Given the description of an element on the screen output the (x, y) to click on. 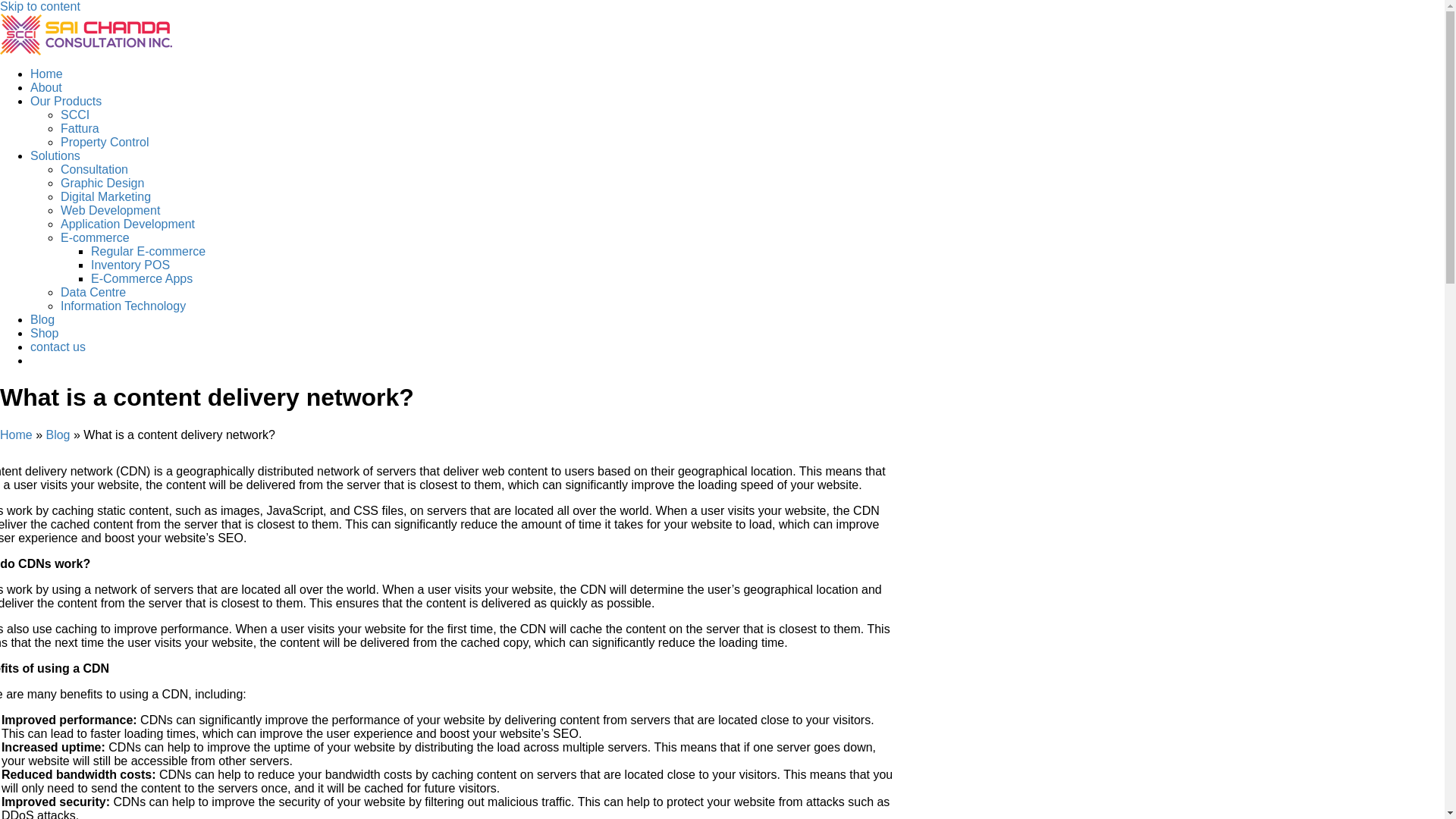
Blog (57, 434)
Graphic Design (102, 182)
Fattura (80, 128)
Shop (44, 332)
Home (46, 73)
Information Technology (123, 305)
Skip to content (40, 6)
Data Centre (93, 291)
Home (16, 434)
E-Commerce Apps (141, 278)
Regular E-commerce (147, 250)
E-commerce (95, 237)
SCCI (74, 114)
Web Development (110, 210)
Consultation (94, 169)
